Given the description of an element on the screen output the (x, y) to click on. 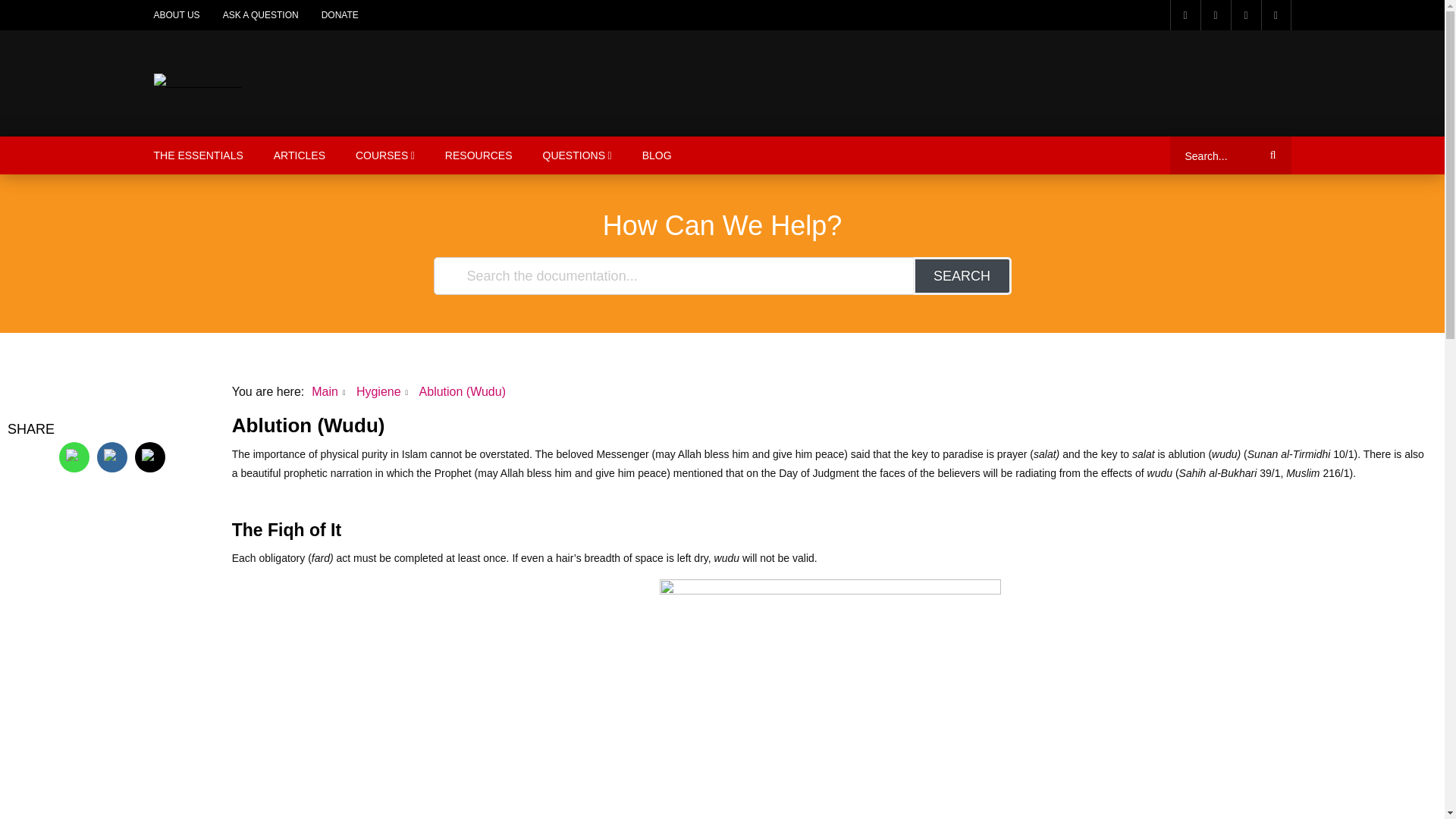
SEARCH (961, 275)
RESOURCES (478, 155)
Facebook (1184, 15)
Search (1270, 155)
WhatsApp (73, 457)
Search (1270, 155)
DONATE (339, 15)
Menses Matters (196, 82)
Twitter (149, 457)
COURSES (384, 155)
ASK A QUESTION (260, 15)
ABOUT US (176, 15)
Notifications (1275, 15)
Instagram (1245, 15)
BLOG (657, 155)
